Given the description of an element on the screen output the (x, y) to click on. 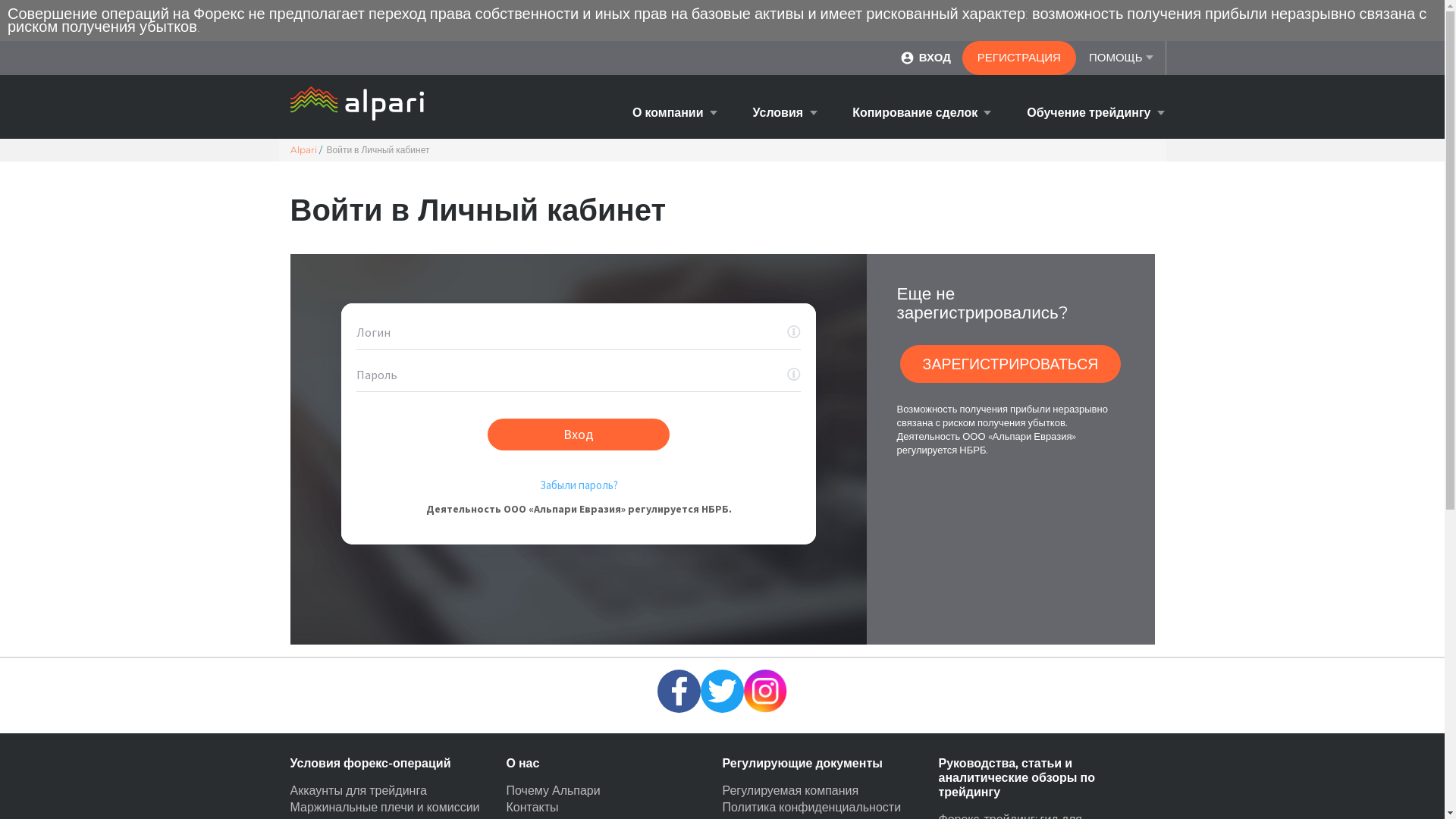
Alpari Element type: text (302, 149)
